Given the description of an element on the screen output the (x, y) to click on. 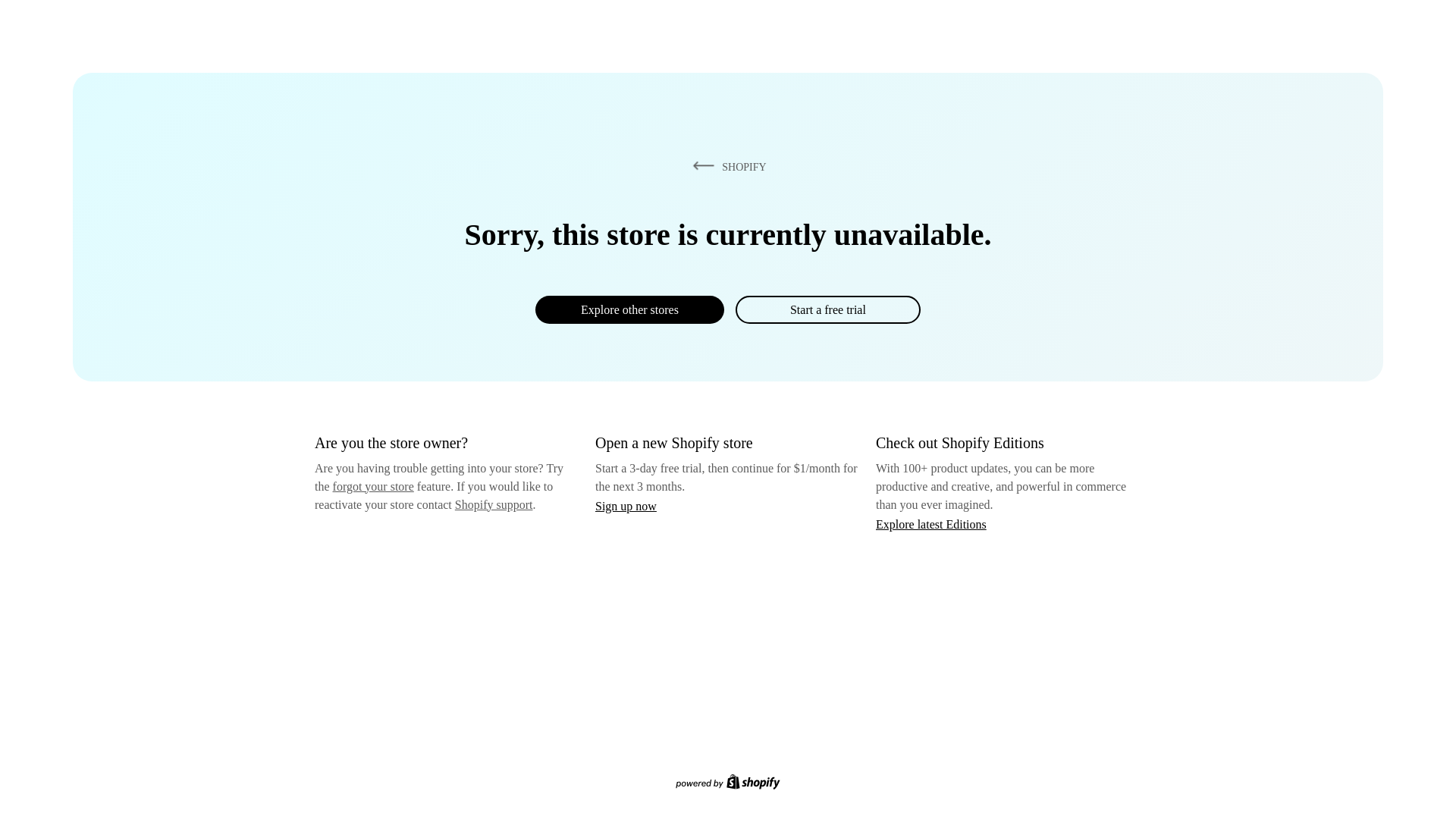
Start a free trial (827, 309)
forgot your store (373, 486)
SHOPIFY (726, 166)
Sign up now (625, 505)
Explore other stores (629, 309)
Shopify support (493, 504)
Explore latest Editions (931, 523)
